Given the description of an element on the screen output the (x, y) to click on. 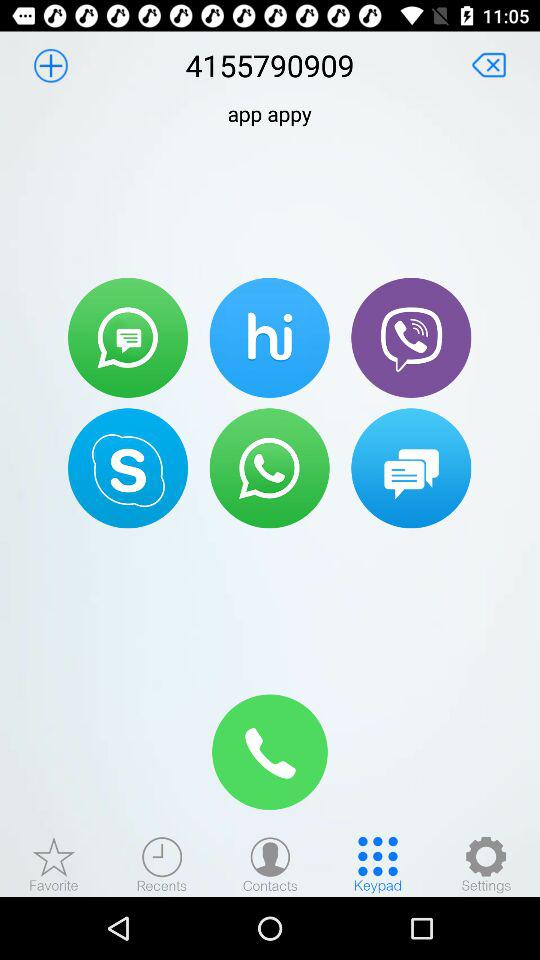
pressing this takes you to a chat (411, 468)
